Given the description of an element on the screen output the (x, y) to click on. 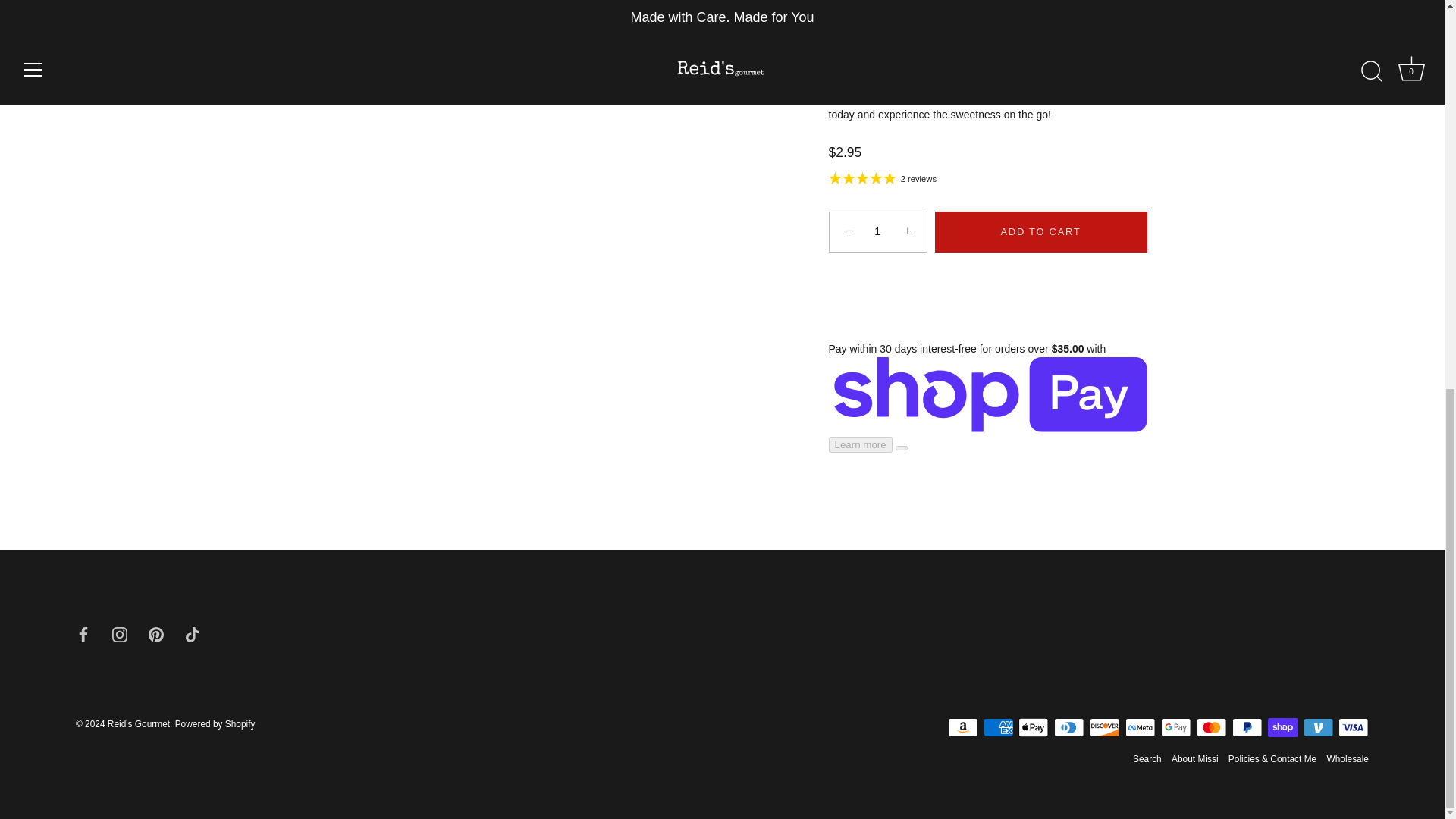
American Express (998, 727)
Wholesale (1347, 758)
Pinterest (155, 634)
Instagram (120, 634)
Reid's Gourmet (138, 724)
Instagram (120, 633)
Search (1146, 758)
Diners Club (1069, 727)
ADD TO CART (1040, 231)
Pinterest (155, 633)
